Given the description of an element on the screen output the (x, y) to click on. 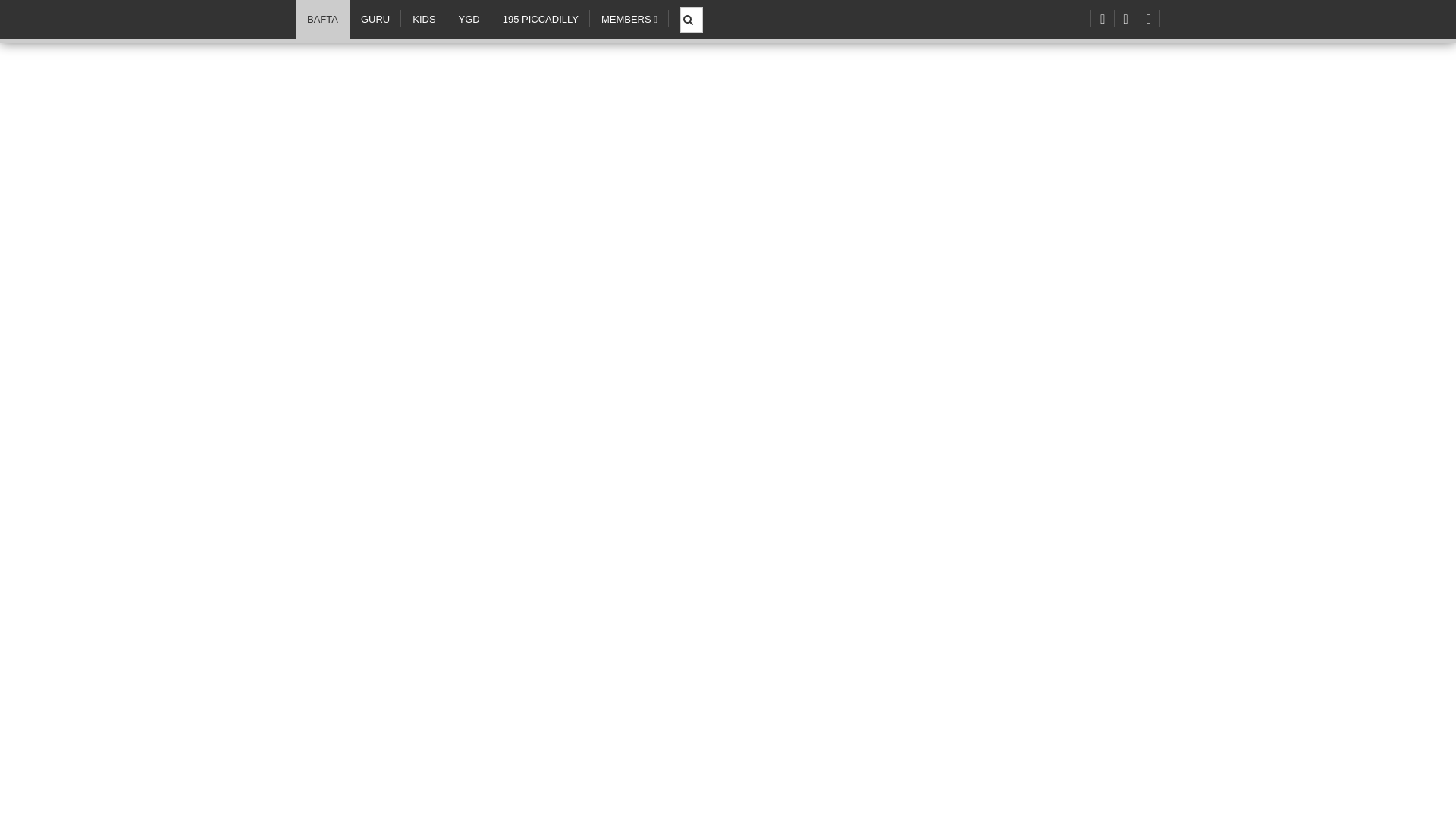
YGD (469, 19)
Search (692, 10)
MEMBERS (628, 19)
BAFTA (322, 19)
GURU (375, 19)
KIDS (423, 19)
195 PICCADILLY (540, 19)
